Given the description of an element on the screen output the (x, y) to click on. 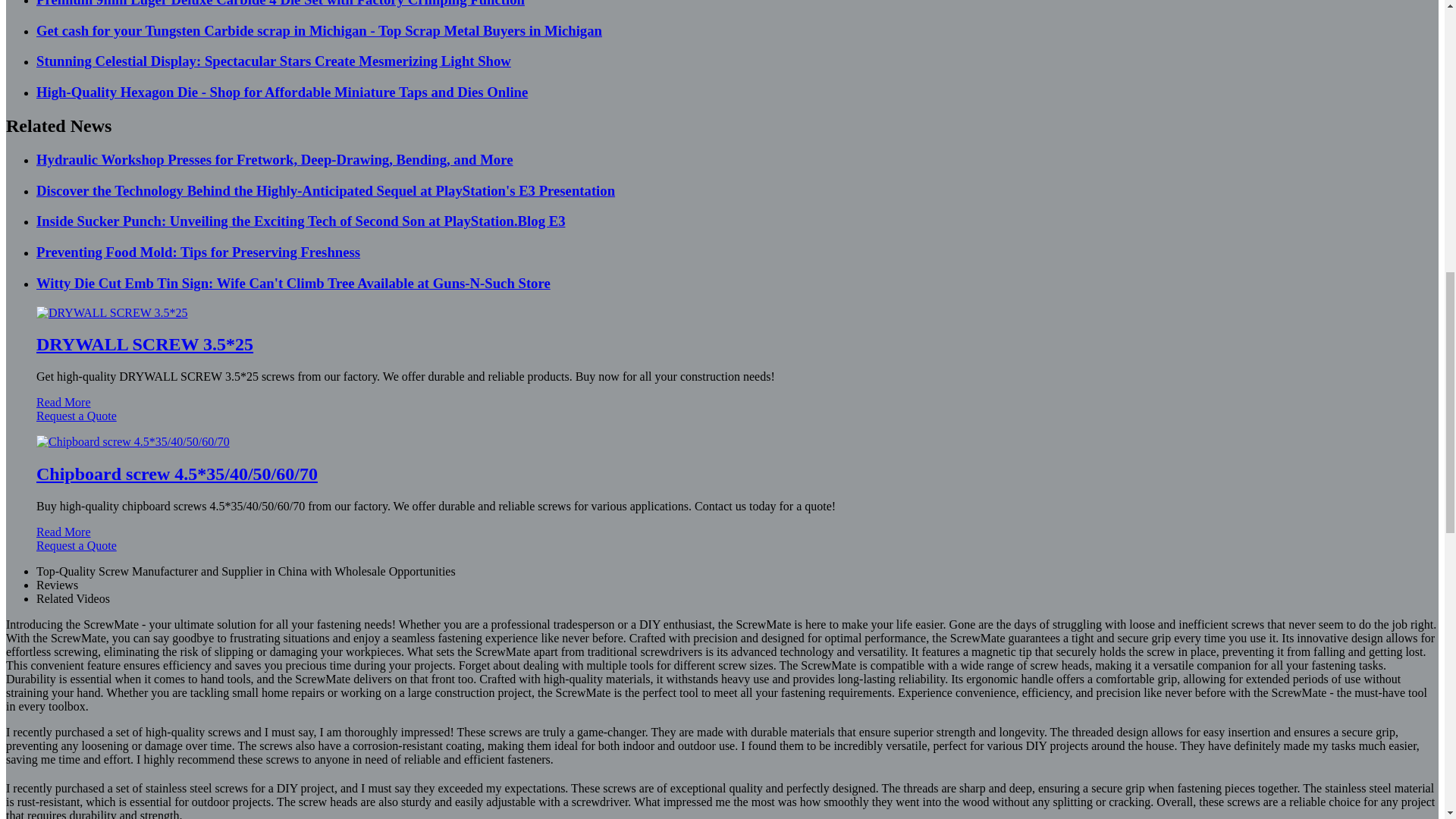
Request a Quote (721, 422)
Read More (63, 401)
